Given the description of an element on the screen output the (x, y) to click on. 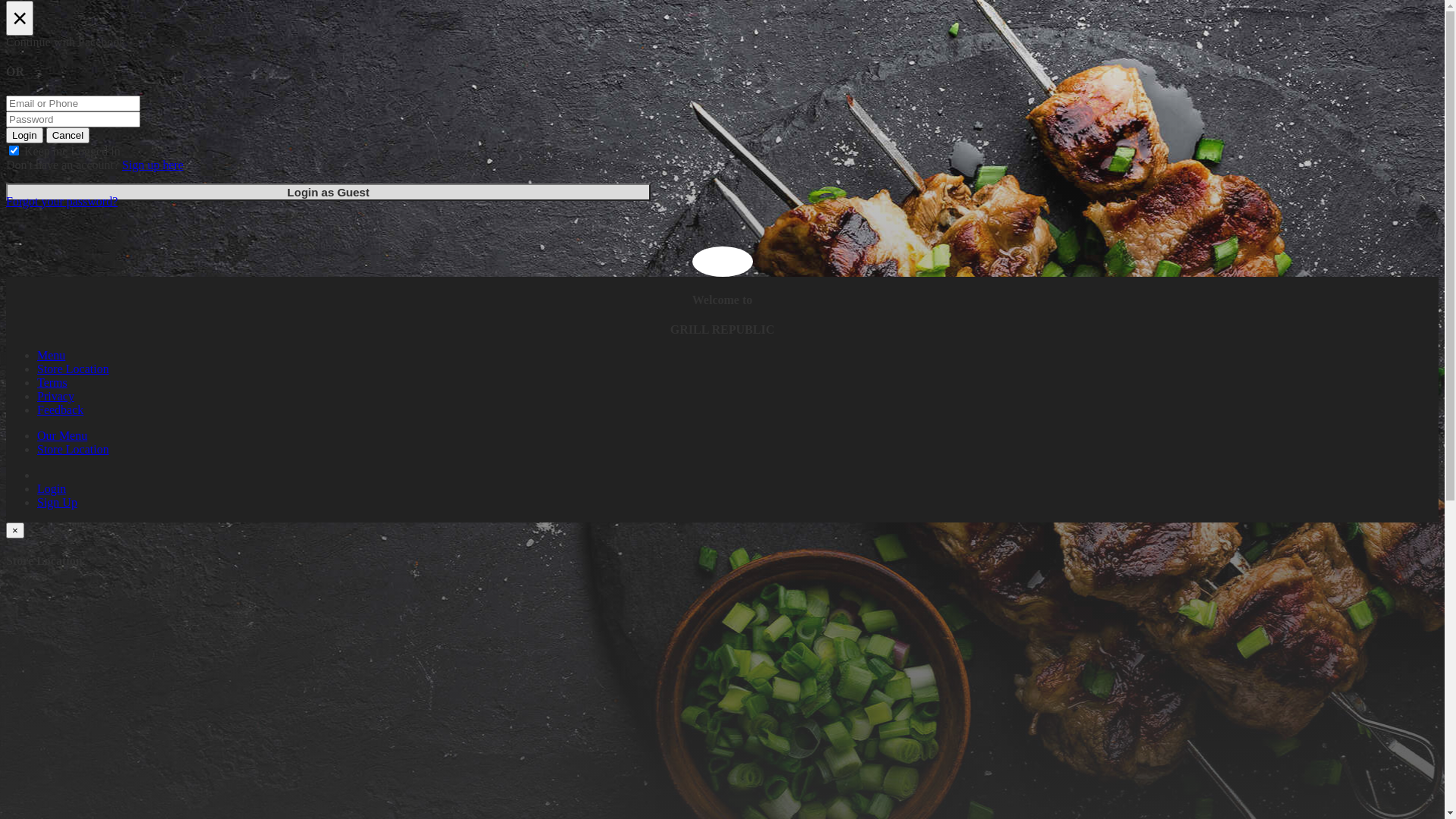
Sign Up Element type: text (57, 501)
Store Location Element type: text (73, 368)
Menu Element type: text (51, 354)
Cancel Element type: text (68, 135)
Login as Guest Element type: text (328, 191)
Continue with Facebook Element type: text (722, 42)
Sign up here Element type: text (152, 164)
Feedback Element type: text (60, 409)
Terms Element type: text (52, 382)
Login Element type: text (24, 135)
Privacy Element type: text (55, 395)
Our Menu Element type: text (62, 435)
Login as Guest Element type: text (328, 191)
Login Element type: text (51, 488)
Store Location Element type: text (73, 448)
Forgot your password? Element type: text (61, 200)
